Given the description of an element on the screen output the (x, y) to click on. 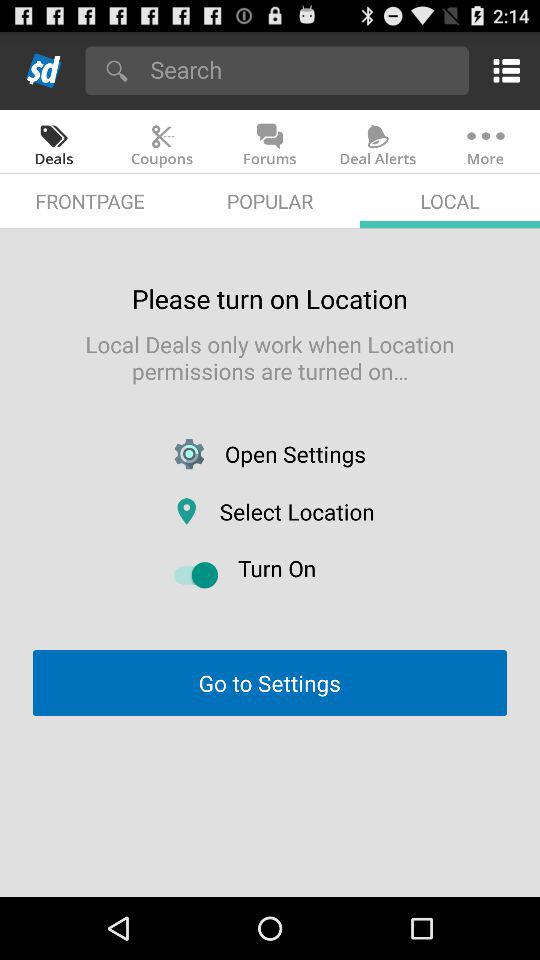
open menu (502, 70)
